Given the description of an element on the screen output the (x, y) to click on. 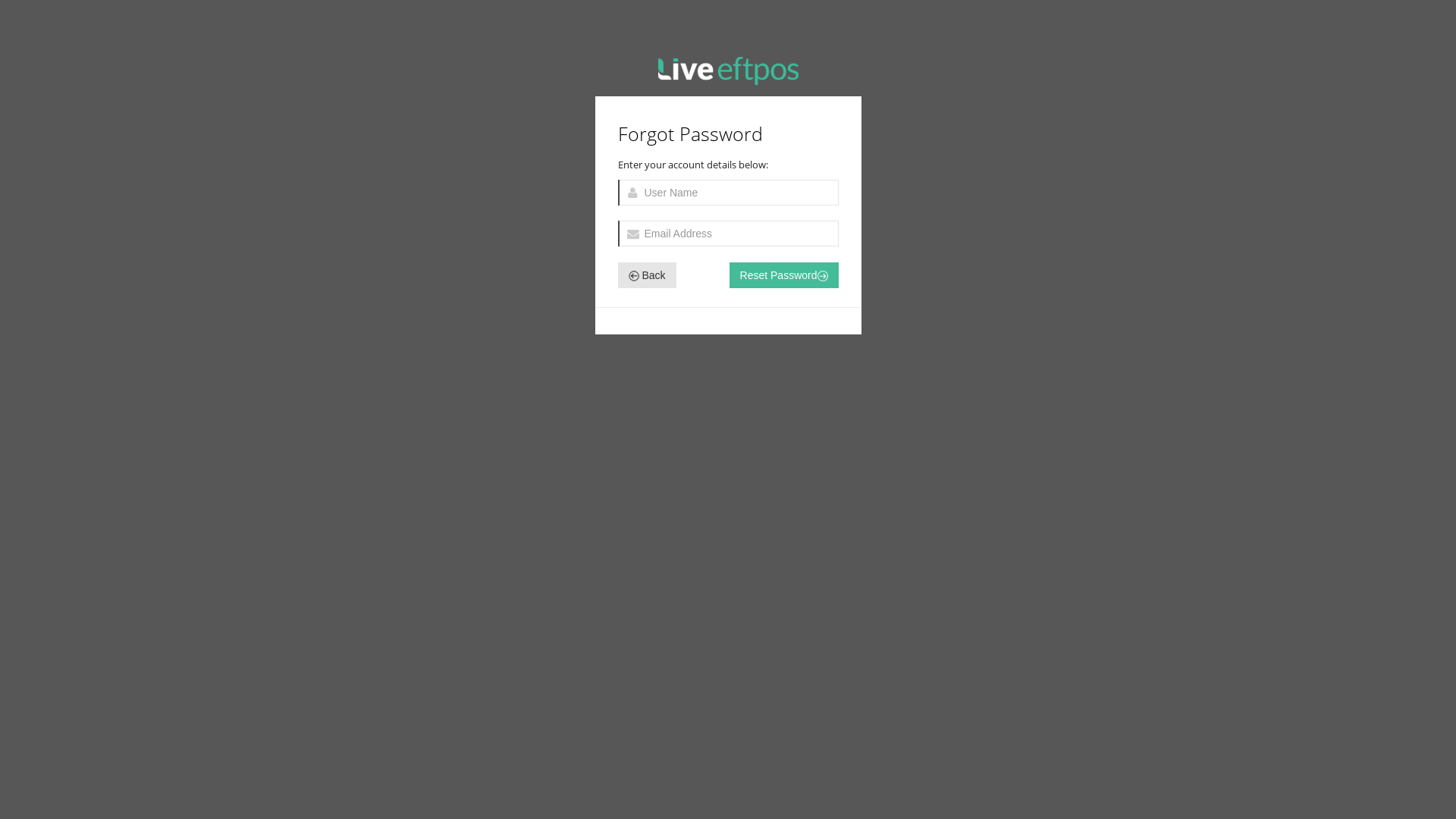
Reset Password Element type: text (783, 275)
Back Element type: text (646, 275)
